Given the description of an element on the screen output the (x, y) to click on. 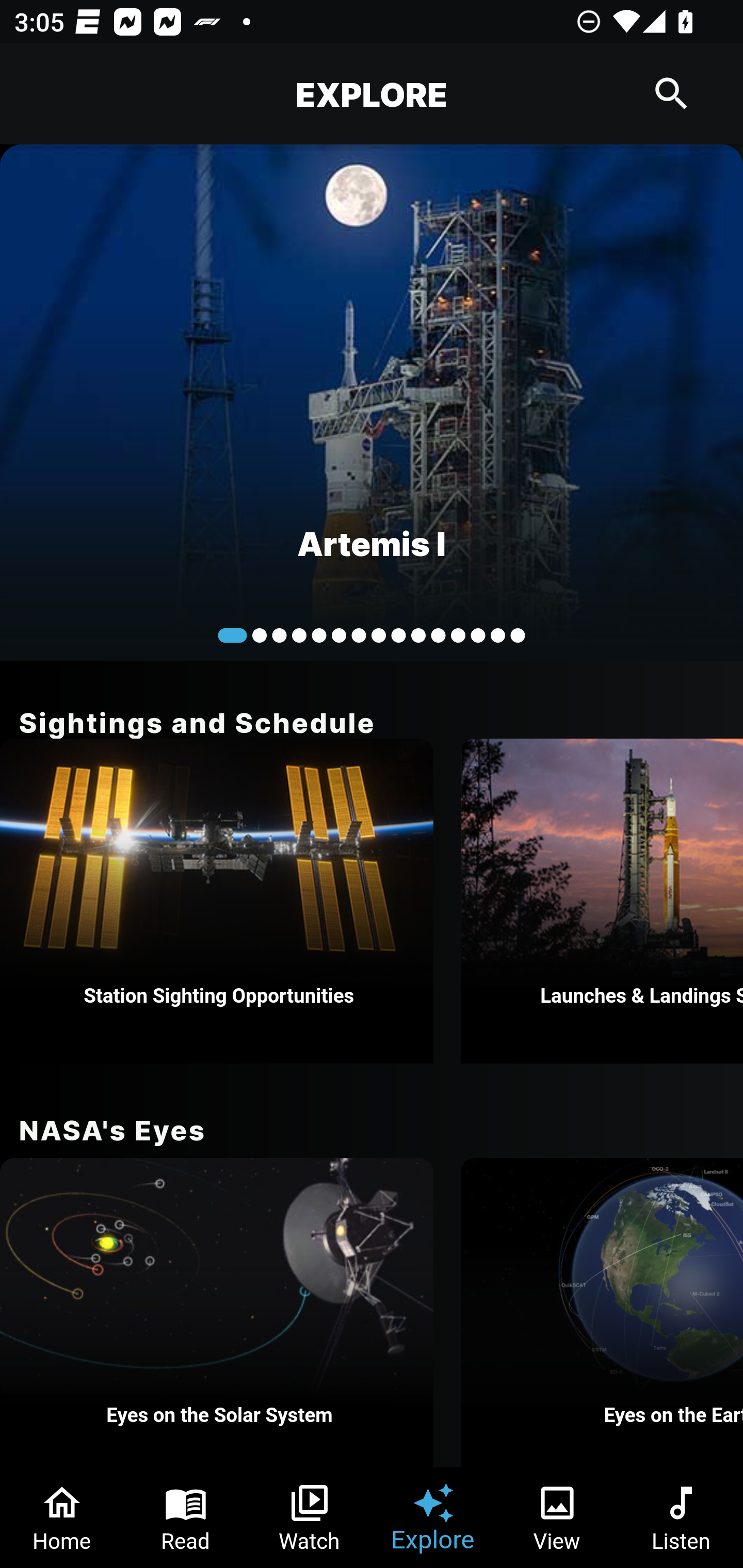
Artemis I
Hello World (371, 402)
Station Sighting Opportunities (216, 900)
Launches & Landings Schedule (601, 900)
Eyes on the Solar System (216, 1312)
Eyes on the Earth (601, 1312)
Home
Tab 1 of 6 (62, 1517)
Read
Tab 2 of 6 (185, 1517)
Watch
Tab 3 of 6 (309, 1517)
Explore
Tab 4 of 6 (433, 1517)
View
Tab 5 of 6 (556, 1517)
Listen
Tab 6 of 6 (680, 1517)
